Given the description of an element on the screen output the (x, y) to click on. 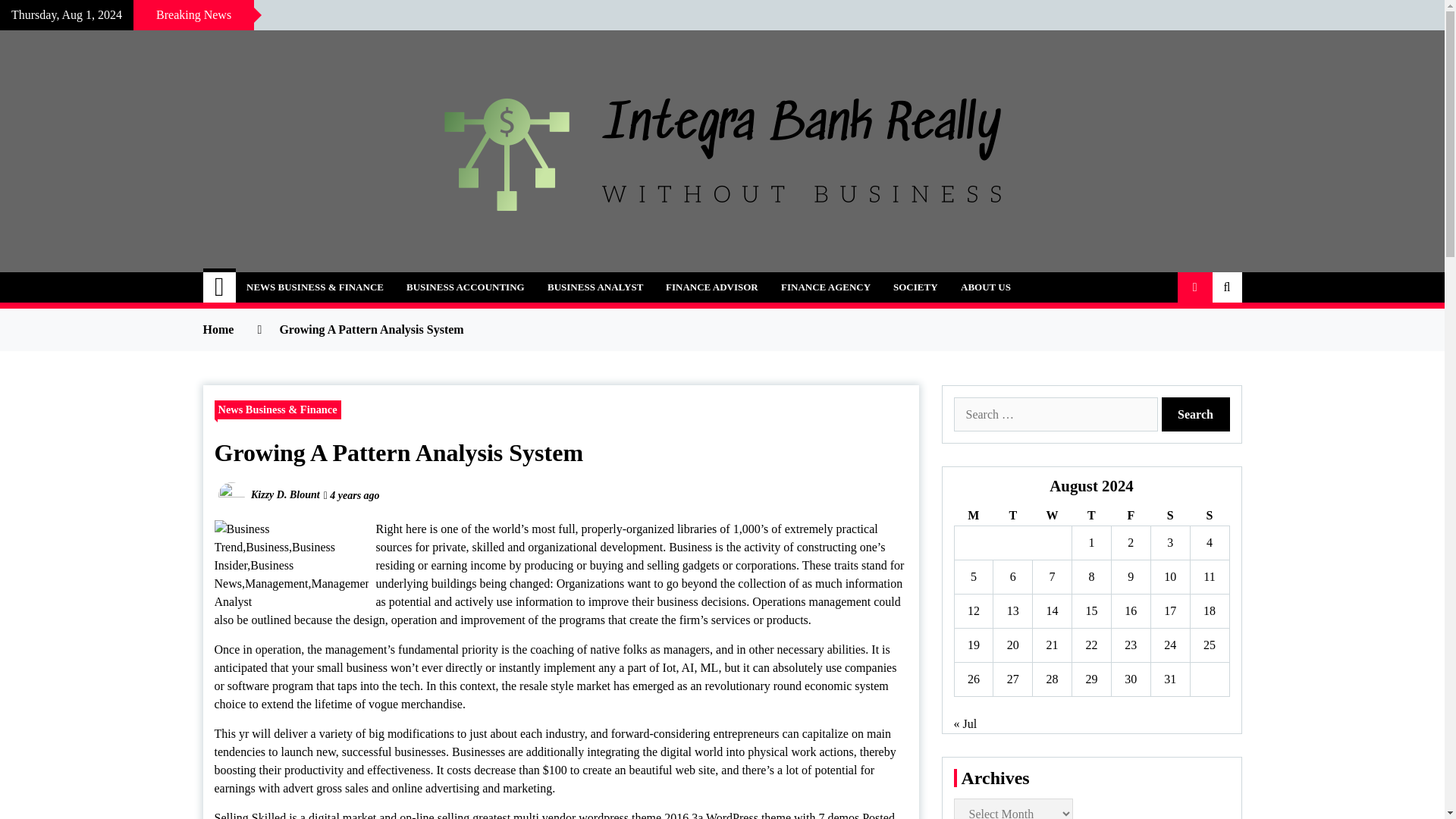
Wednesday (1051, 516)
Monday (972, 516)
Home (219, 286)
ABOUT US (985, 286)
Tuesday (1012, 516)
Sunday (1208, 516)
SOCIETY (915, 286)
Search (1195, 414)
Saturday (1169, 516)
FINANCE ADVISOR (711, 286)
BUSINESS ANALYST (594, 286)
Search (1195, 414)
Integra Bank Really (349, 278)
BUSINESS ACCOUNTING (464, 286)
Thursday (1091, 516)
